Given the description of an element on the screen output the (x, y) to click on. 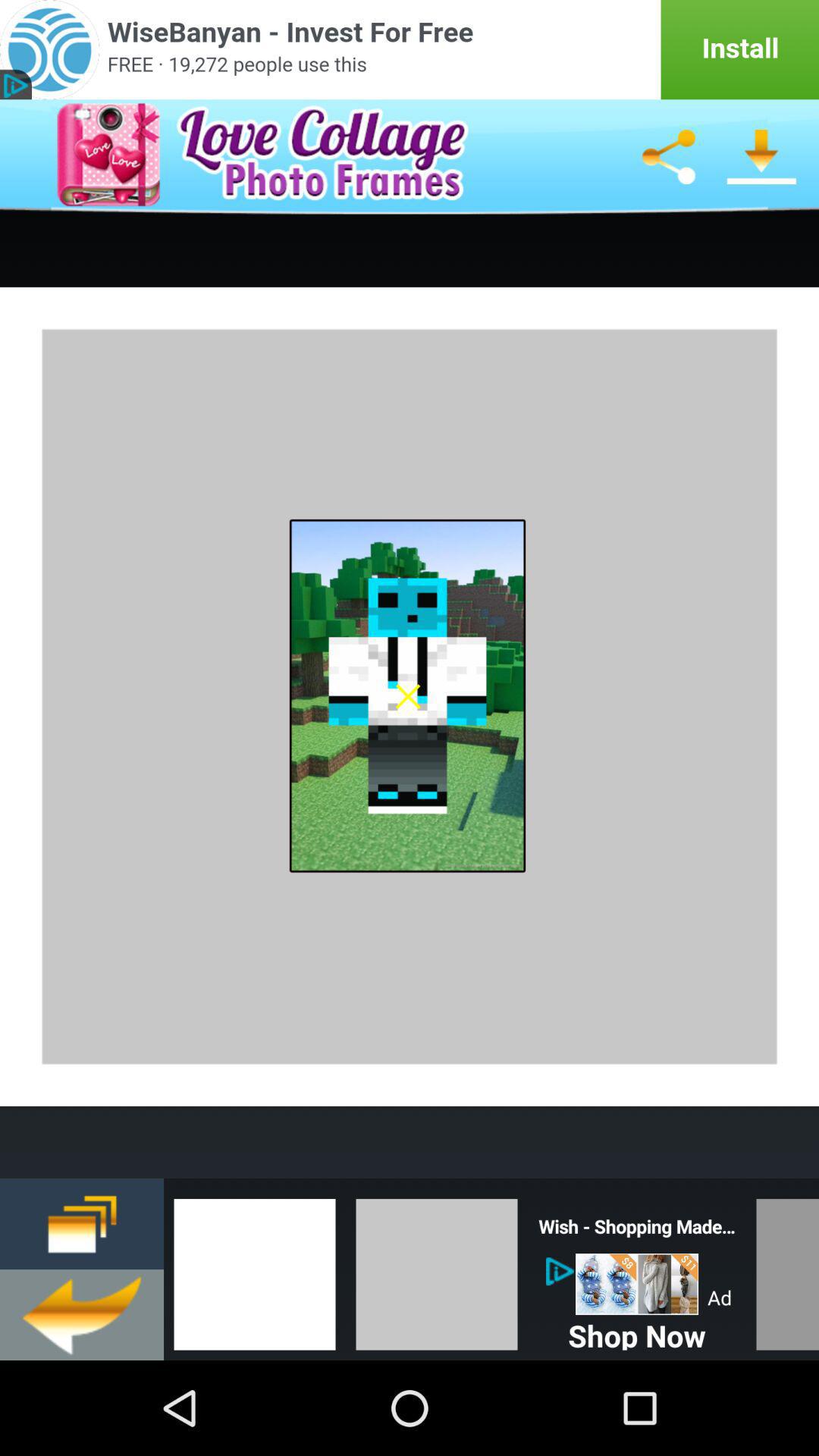
share image (668, 156)
